Given the description of an element on the screen output the (x, y) to click on. 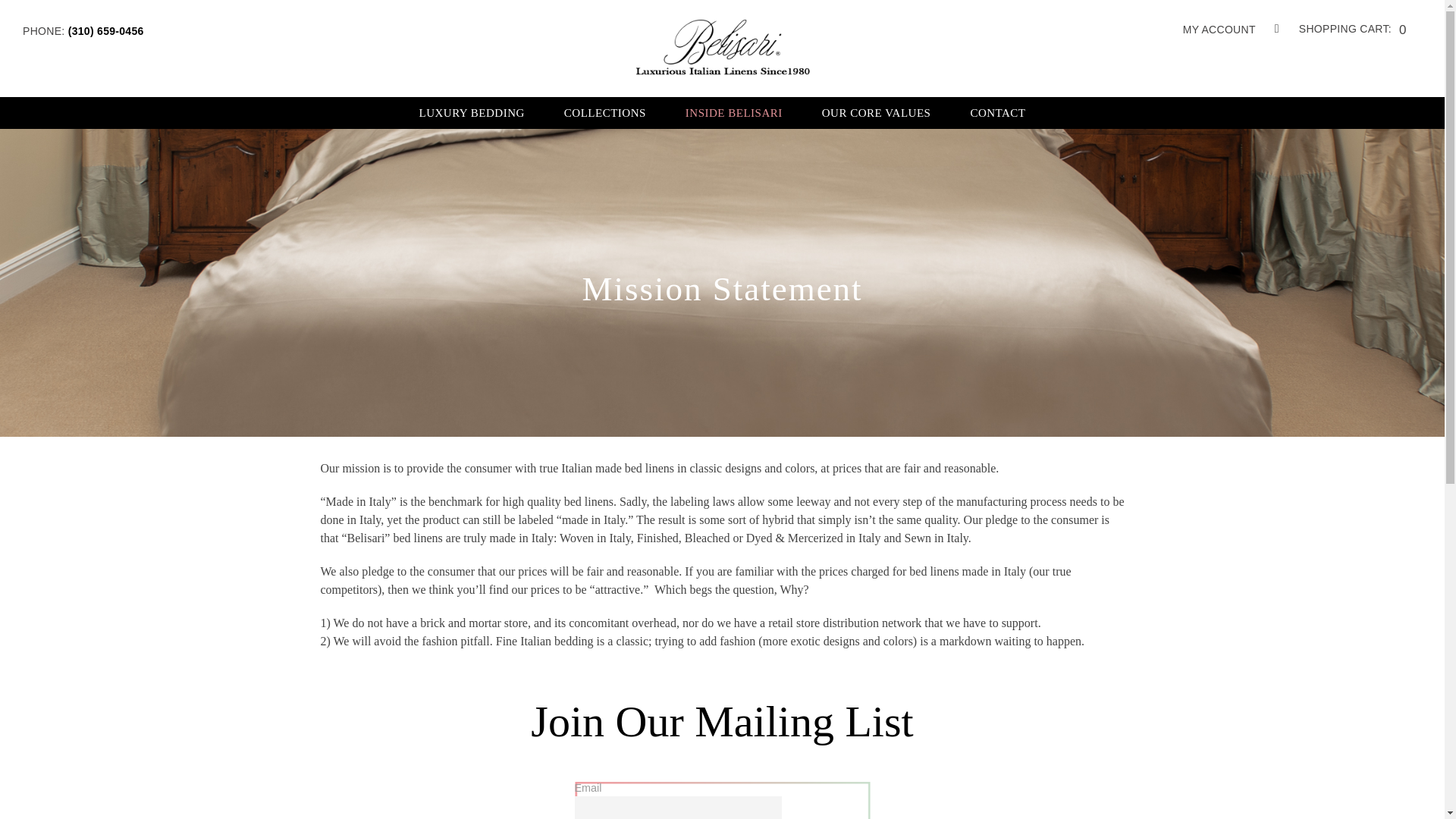
logo (721, 47)
